Given the description of an element on the screen output the (x, y) to click on. 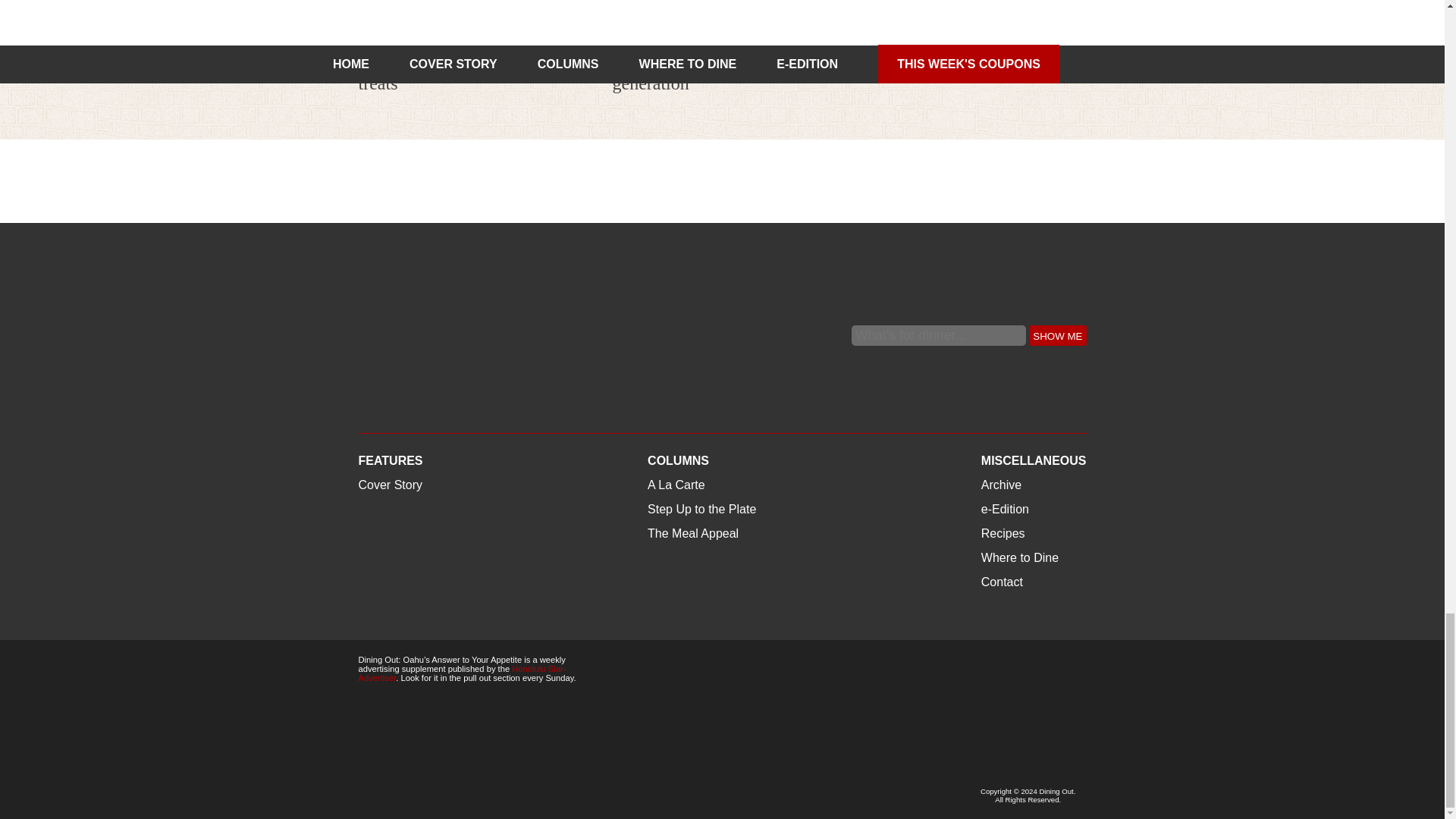
Serving generation after generation (722, 24)
A La Carte (640, 38)
A La Carte (386, 38)
Biz delights with summer treats (468, 24)
A La Carte (640, 38)
A La Carte (386, 38)
Biz delights with summer treats (451, 73)
Biz delights with summer treats (451, 73)
Rice, Rice, Baby (976, 24)
Serving generation after generation (700, 73)
